Given the description of an element on the screen output the (x, y) to click on. 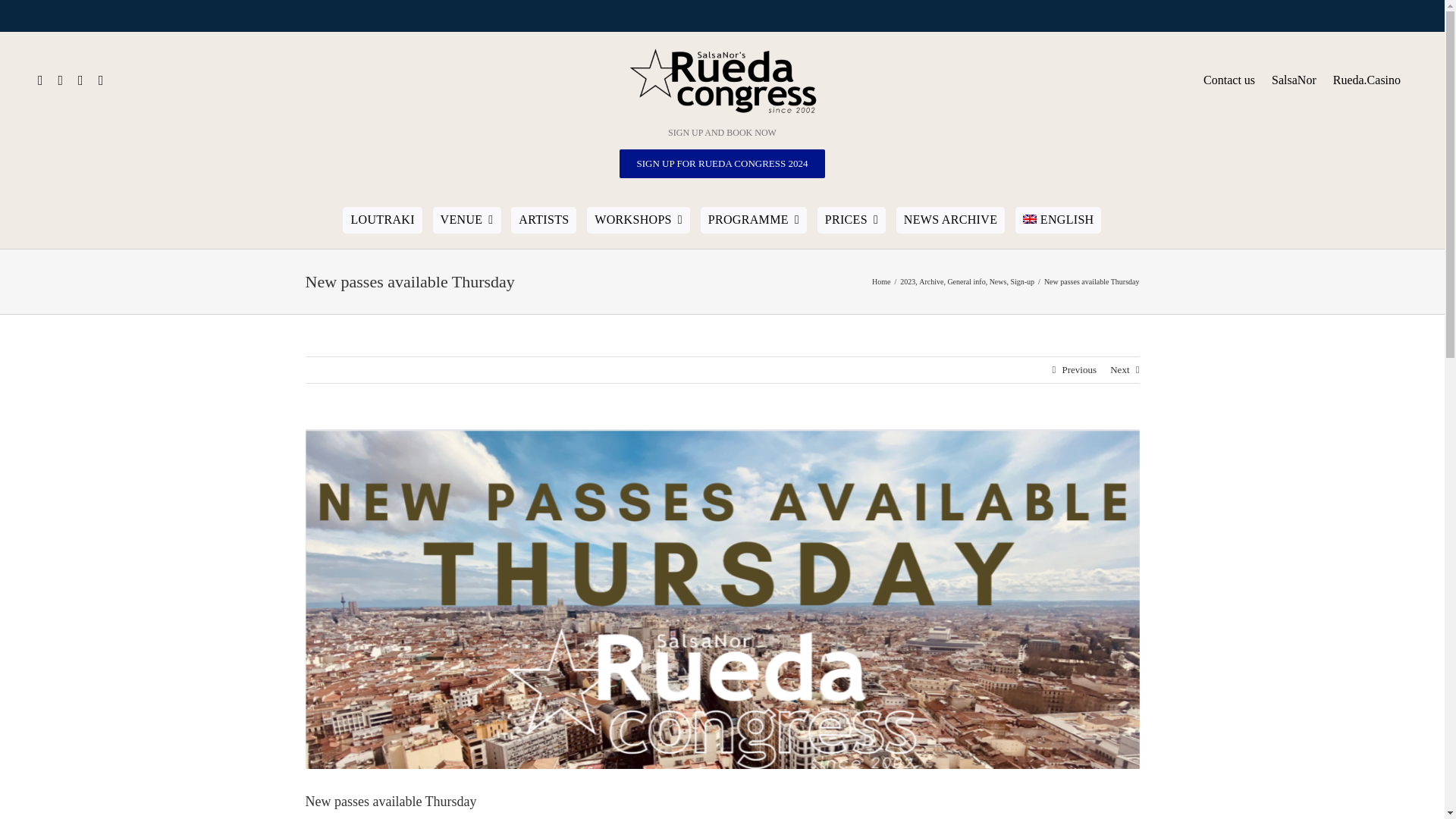
VENUE (466, 220)
LOUTRAKI (382, 220)
Visit our educational video channel (1366, 80)
NEWS ARCHIVE (950, 220)
SIGN UP FOR RUEDA CONGRESS 2024 (721, 163)
ARTISTS (543, 220)
PRICES (850, 220)
Rueda.Casino (1366, 80)
Contact us (1228, 80)
SalsaNor (1293, 80)
